Given the description of an element on the screen output the (x, y) to click on. 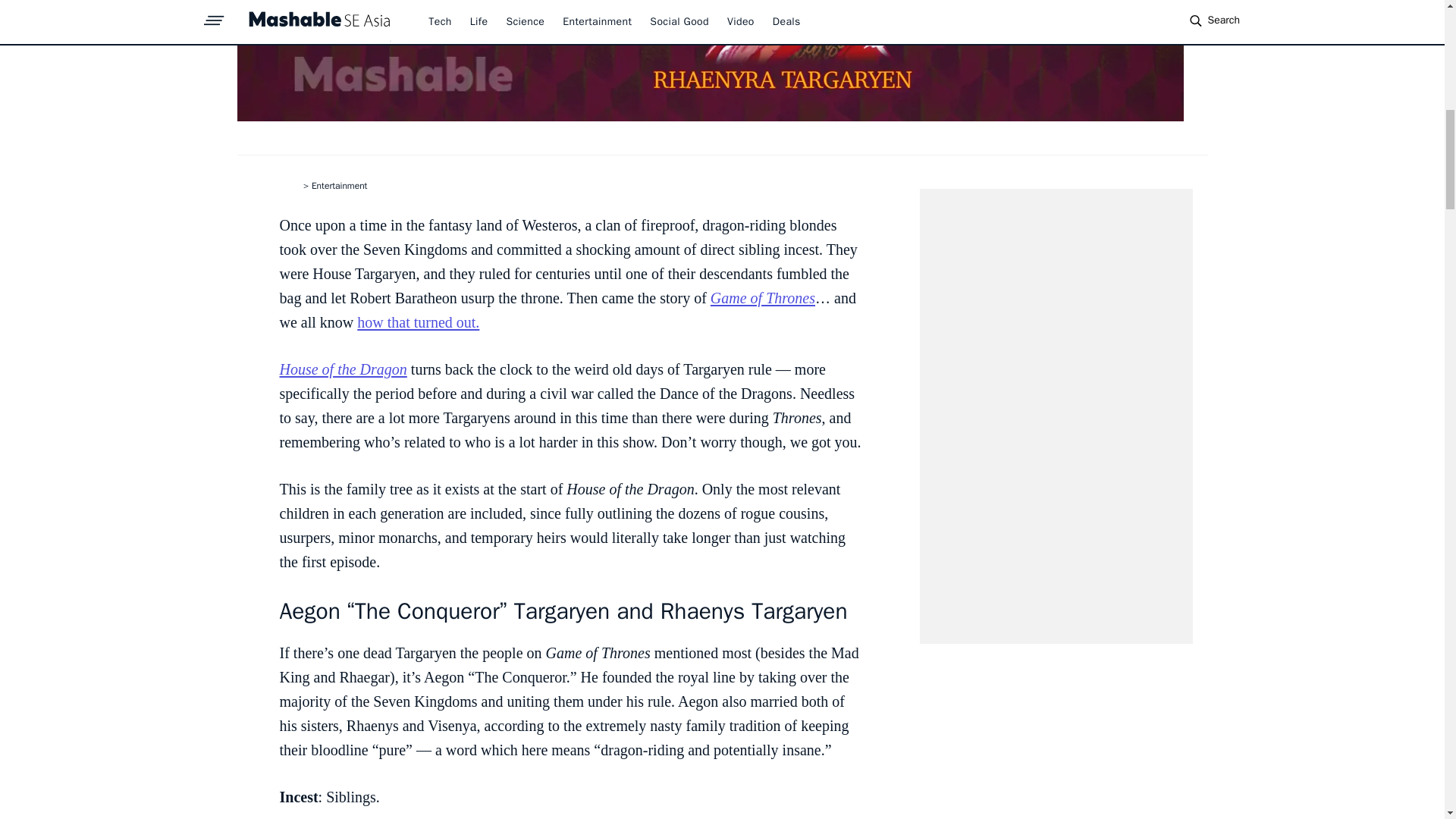
how that turned out. (417, 321)
House of the Dragon (342, 369)
Game of Thrones (762, 297)
